Given the description of an element on the screen output the (x, y) to click on. 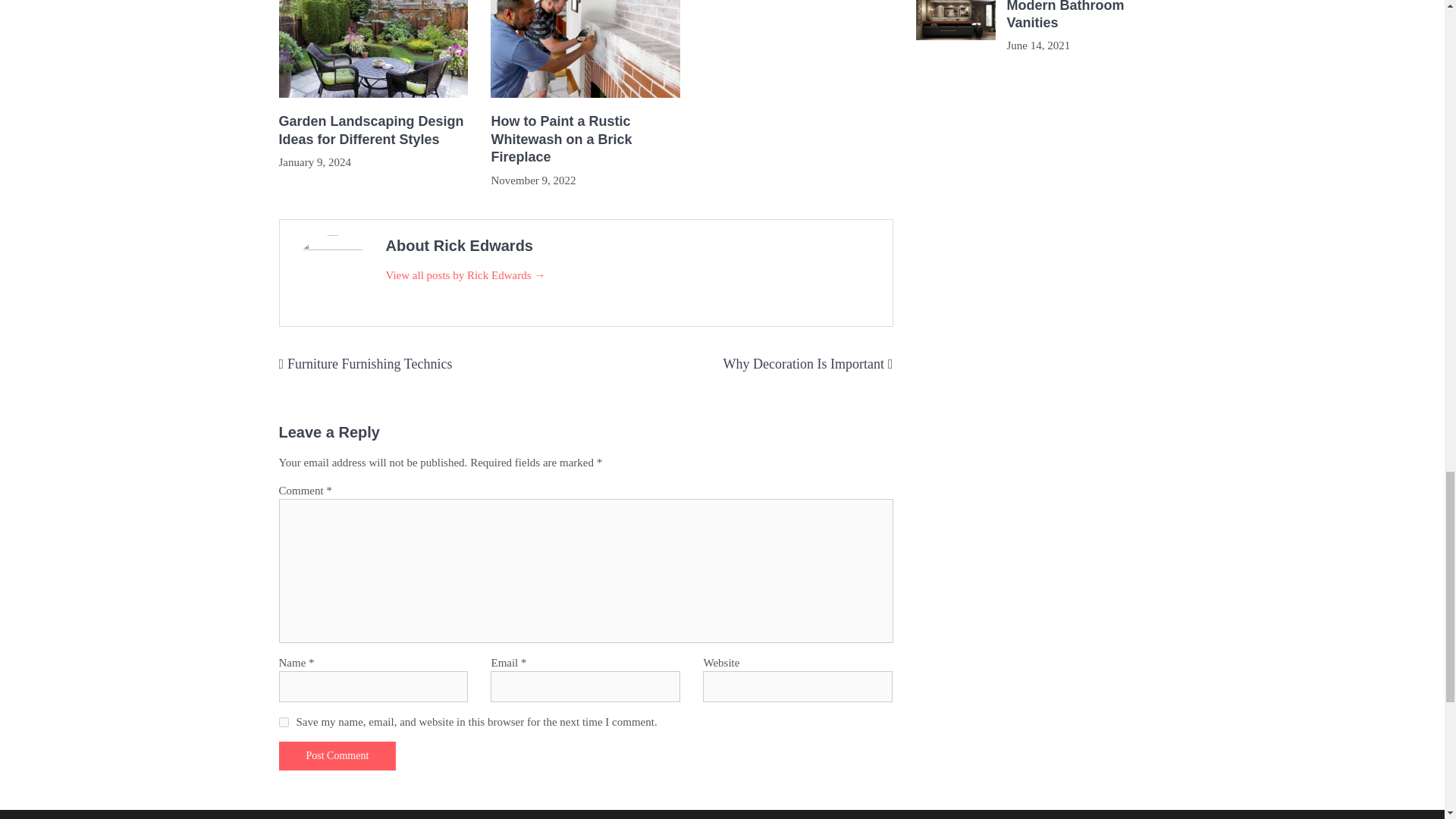
yes (283, 722)
Why Decoration Is Important (802, 363)
Furniture Furnishing Technics (368, 363)
How to Paint a Rustic Whitewash on a Brick Fireplace (584, 139)
Post Comment (337, 756)
Garden Landscaping Design Ideas for Different Styles (373, 130)
Post Comment (337, 756)
